Given the description of an element on the screen output the (x, y) to click on. 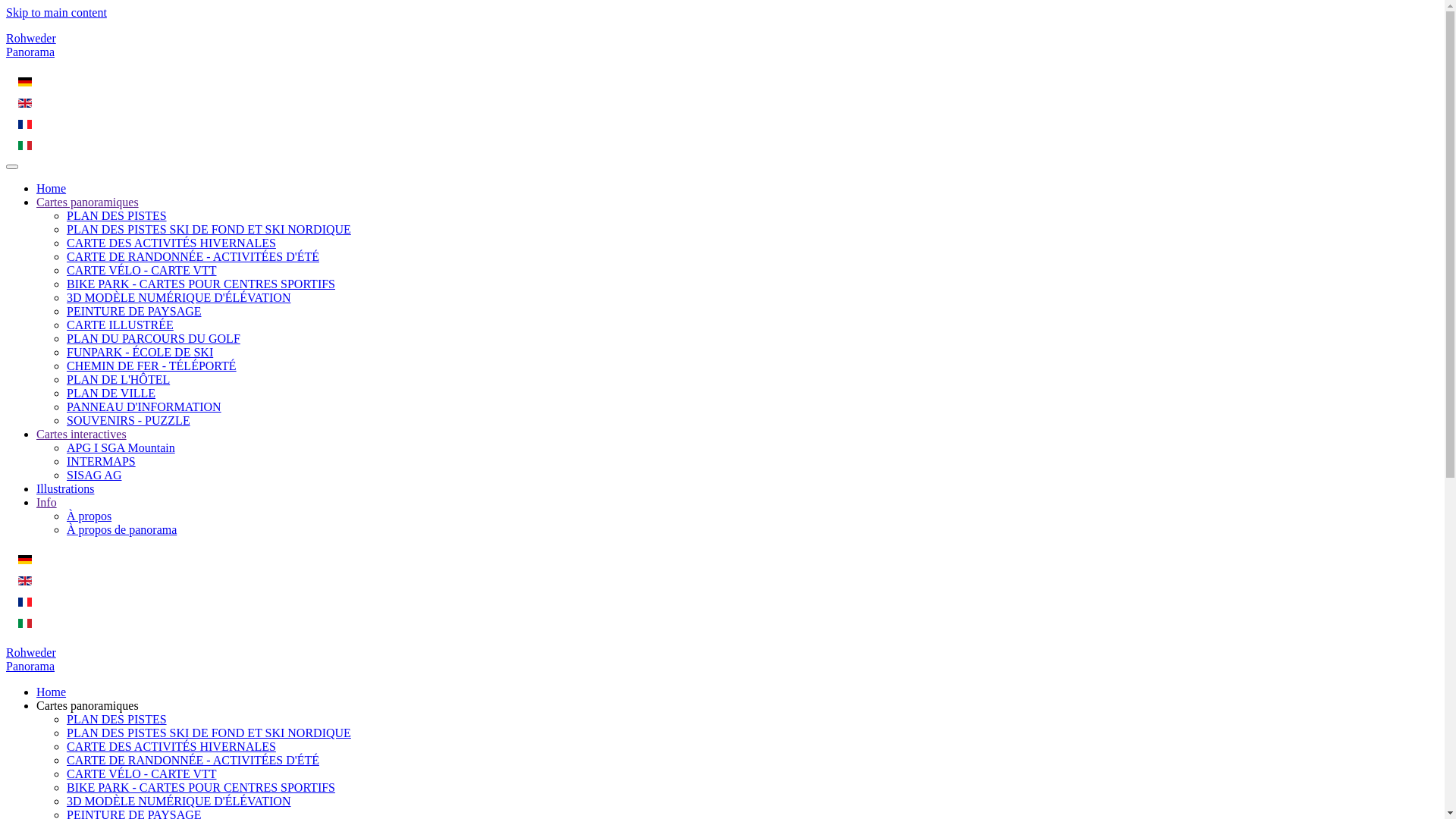
PLAN DES PISTES SKI DE FOND ET SKI NORDIQUE Element type: text (208, 732)
Skip to main content Element type: text (56, 12)
Cartes panoramiques Element type: text (87, 201)
Info Element type: text (46, 501)
PLAN DE VILLE Element type: text (110, 392)
Home Element type: text (50, 691)
Cartes panoramiques Element type: text (87, 705)
Rohweder
Panorama Element type: text (31, 44)
PANNEAU D'INFORMATION Element type: text (143, 406)
SISAG AG Element type: text (93, 474)
SOUVENIRS - PUZZLE Element type: text (128, 420)
PLAN DES PISTES Element type: text (116, 718)
PLAN DES PISTES SKI DE FOND ET SKI NORDIQUE Element type: text (208, 228)
INTERMAPS Element type: text (100, 461)
English (UK) Element type: hover (24, 102)
Cartes interactives Element type: text (81, 433)
Italiano (Italia) Element type: hover (24, 622)
English (UK) Element type: hover (24, 580)
PLAN DU PARCOURS DU GOLF Element type: text (153, 338)
PEINTURE DE PAYSAGE Element type: text (133, 310)
PLAN DES PISTES Element type: text (116, 215)
BIKE PARK - CARTES POUR CENTRES SPORTIFS Element type: text (200, 787)
Illustrations Element type: text (65, 488)
APG I SGA Mountain Element type: text (120, 447)
Deutsch Element type: hover (24, 559)
BIKE PARK - CARTES POUR CENTRES SPORTIFS Element type: text (200, 283)
Home Element type: text (50, 188)
Deutsch Element type: hover (24, 81)
Italiano (Italia) Element type: hover (24, 145)
Rohweder
Panorama Element type: text (31, 659)
